Given the description of an element on the screen output the (x, y) to click on. 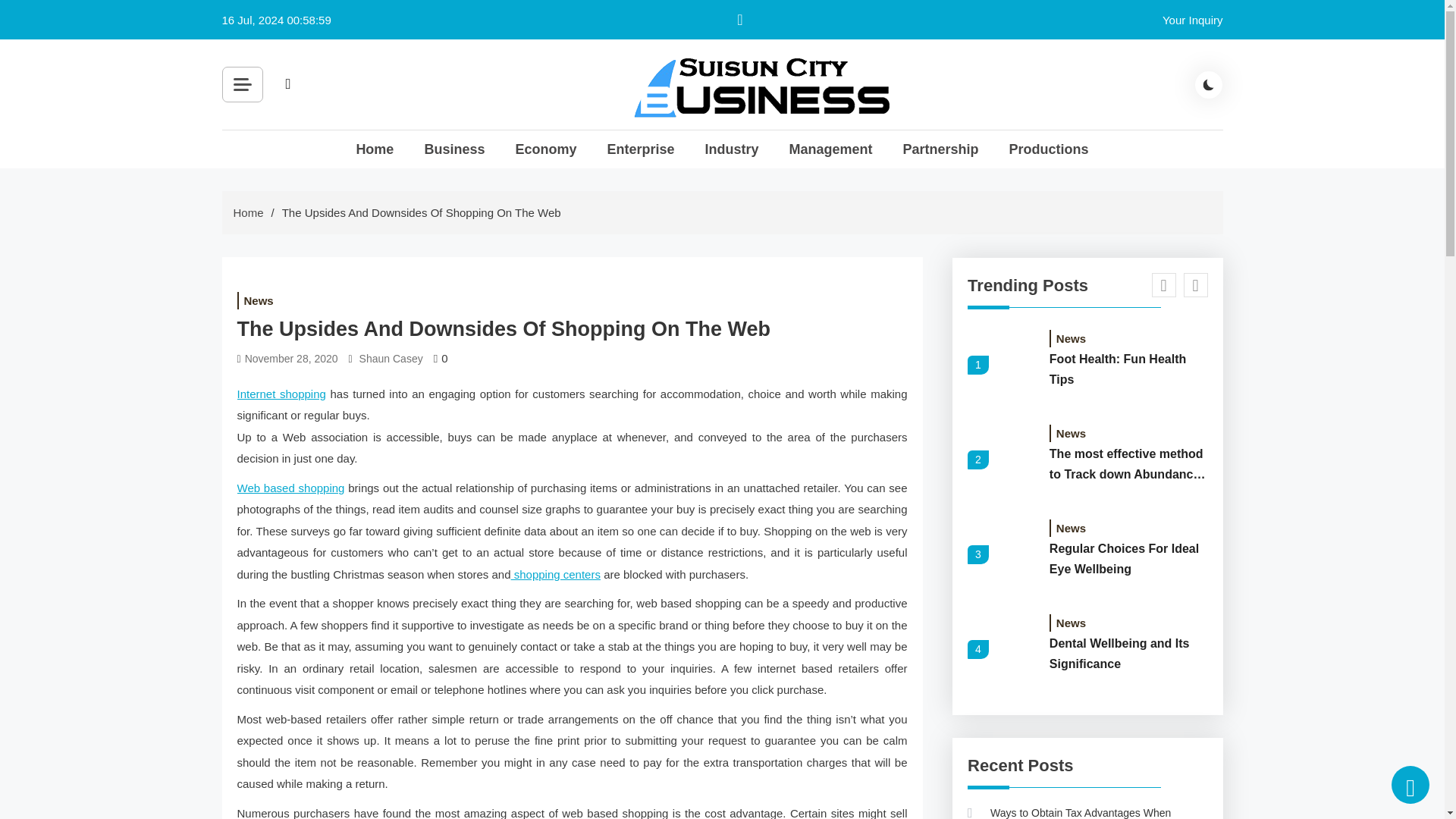
Enterprise (640, 149)
Management (830, 149)
Home (247, 212)
Search (458, 118)
Home (374, 149)
News (257, 300)
November 28, 2020 (290, 358)
Internet shopping (279, 392)
Productions (1049, 149)
Your Inquiry (1192, 19)
site mode button (1209, 84)
Partnership (940, 149)
Shaun Casey (391, 358)
Industry (731, 149)
Web based shopping (289, 486)
